Given the description of an element on the screen output the (x, y) to click on. 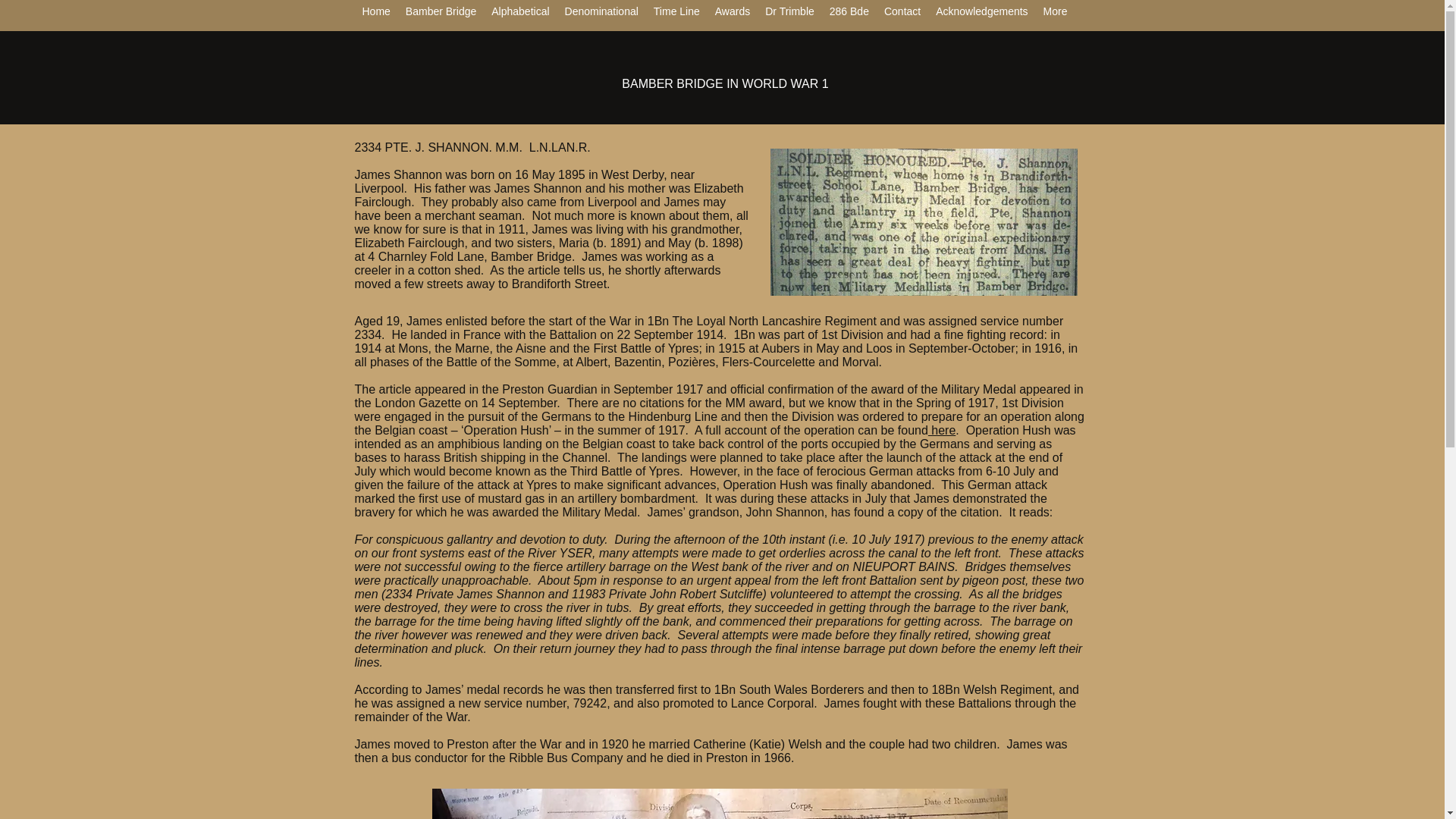
Bamber Bridge (440, 15)
here (941, 430)
Home (376, 15)
Dr Trimble (789, 15)
Awards (732, 15)
Alphabetical (519, 15)
Contact (902, 15)
Acknowledgements (981, 15)
